Given the description of an element on the screen output the (x, y) to click on. 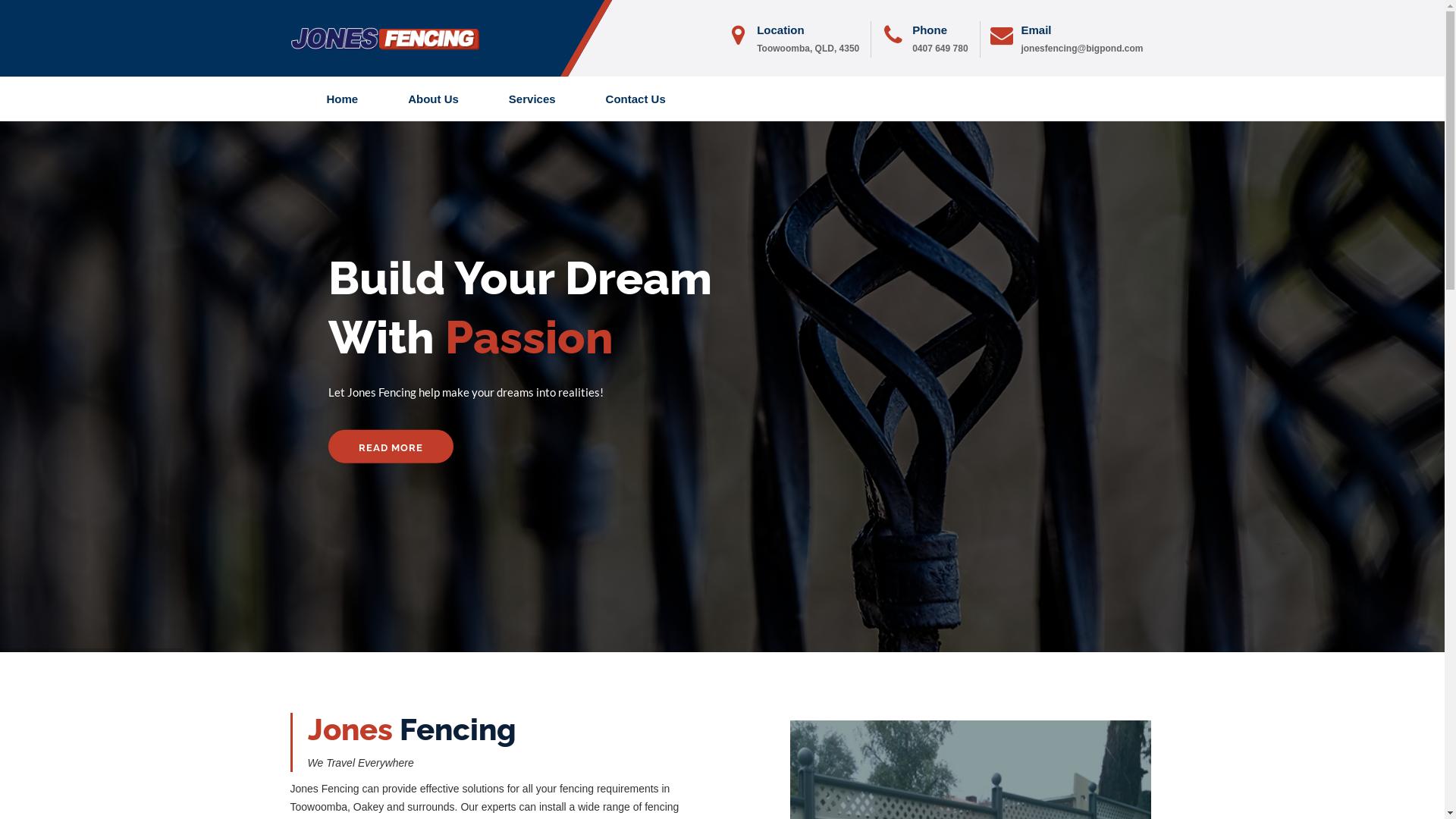
About Us Element type: text (432, 99)
READ MORE Element type: text (390, 393)
Contact Us Element type: text (635, 99)
Services Element type: text (531, 99)
Home Element type: text (342, 99)
